Given the description of an element on the screen output the (x, y) to click on. 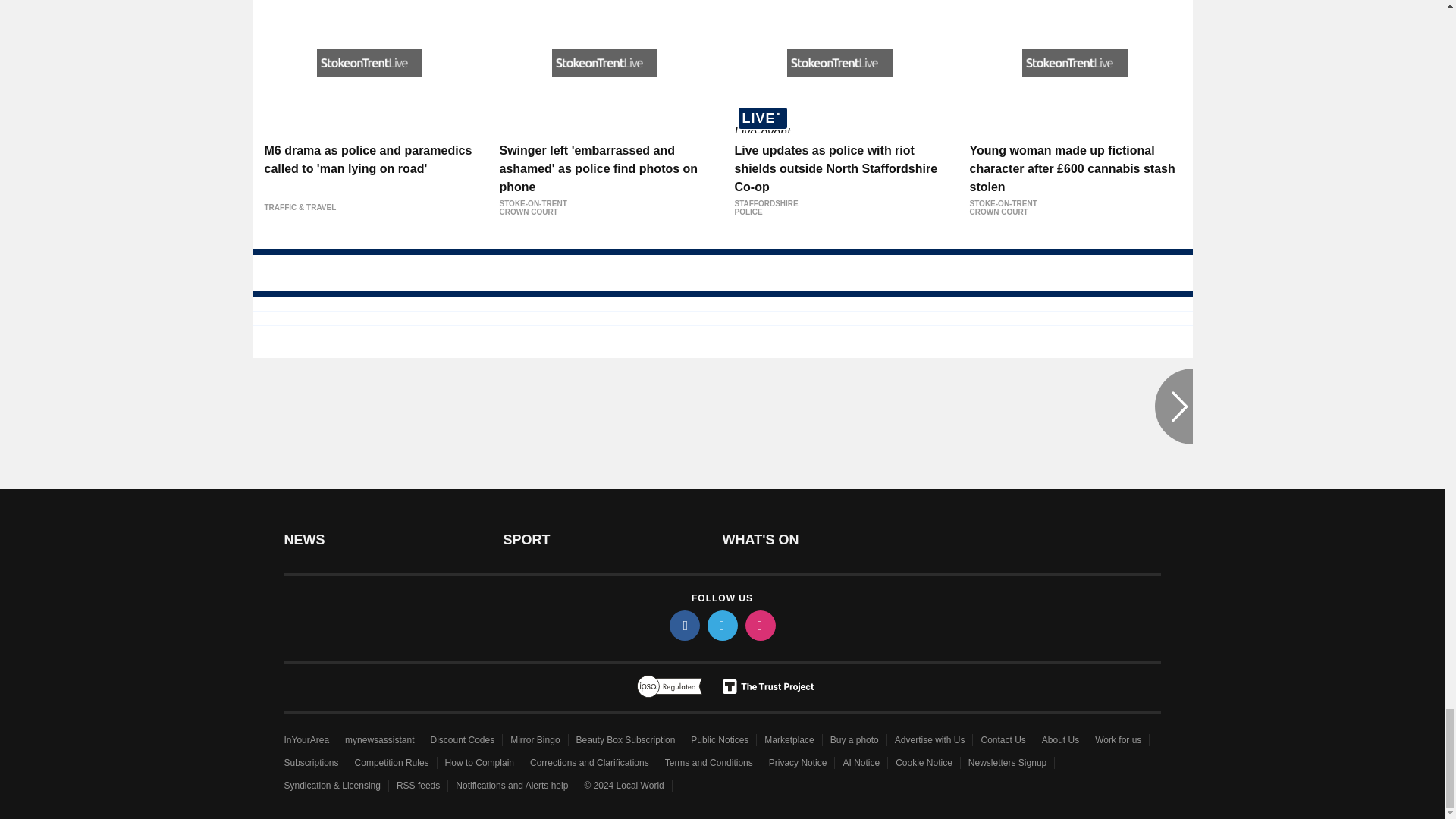
instagram (759, 625)
facebook (683, 625)
twitter (721, 625)
